Given the description of an element on the screen output the (x, y) to click on. 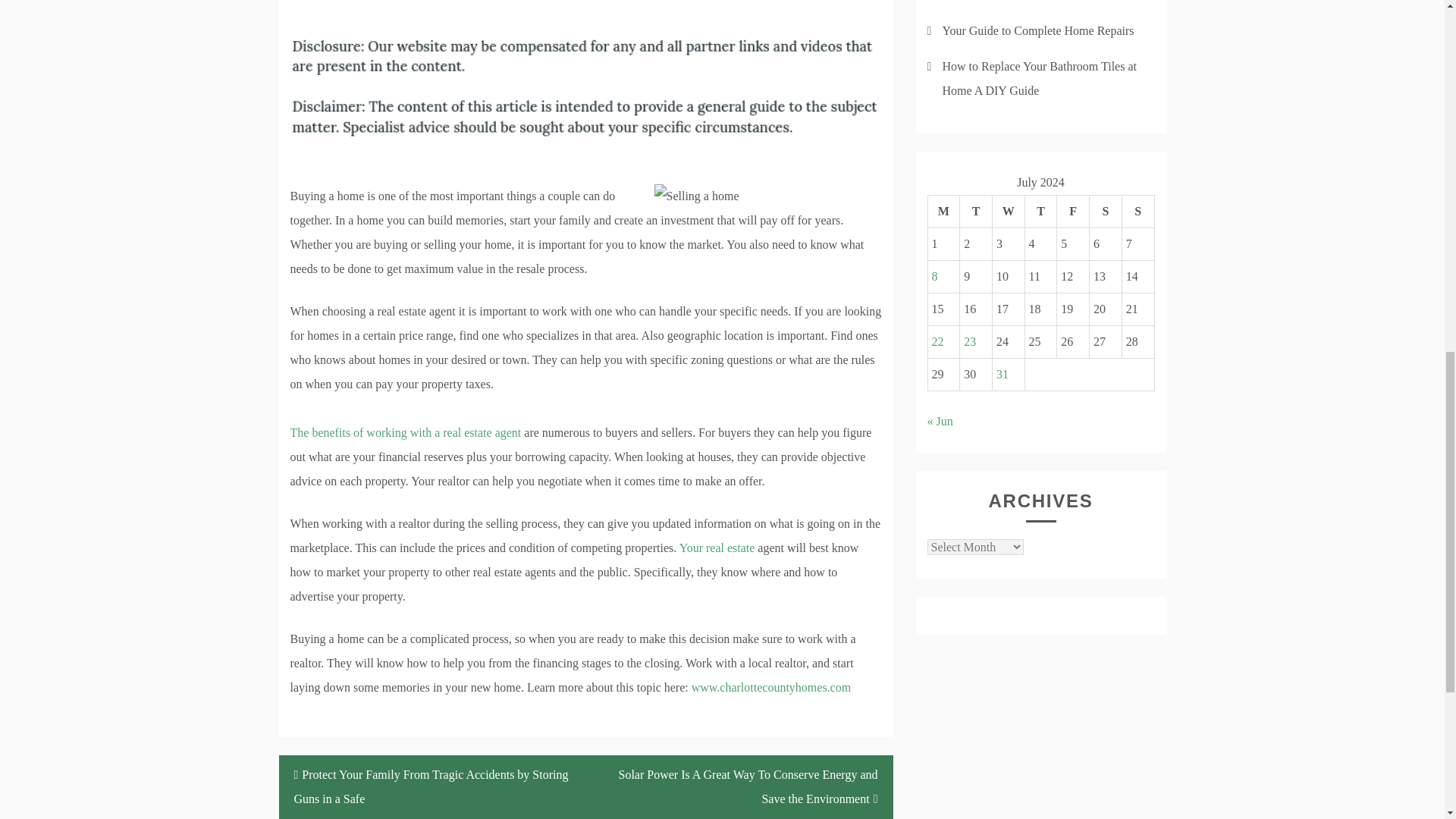
The benefits of working with a real estate agent (405, 444)
Wednesday (1008, 211)
www.charlottecountyhomes.com (770, 686)
Thursday (1041, 211)
Your Guide to Complete Home Repairs (1038, 30)
22 (937, 341)
Monday (943, 211)
Your real estate (717, 547)
Port charlotte waterfront real estate (405, 444)
Tuesday (975, 211)
Saturday (1105, 211)
31 (1002, 373)
How to Replace Your Bathroom Tiles at Home A DIY Guide (1038, 78)
